Given the description of an element on the screen output the (x, y) to click on. 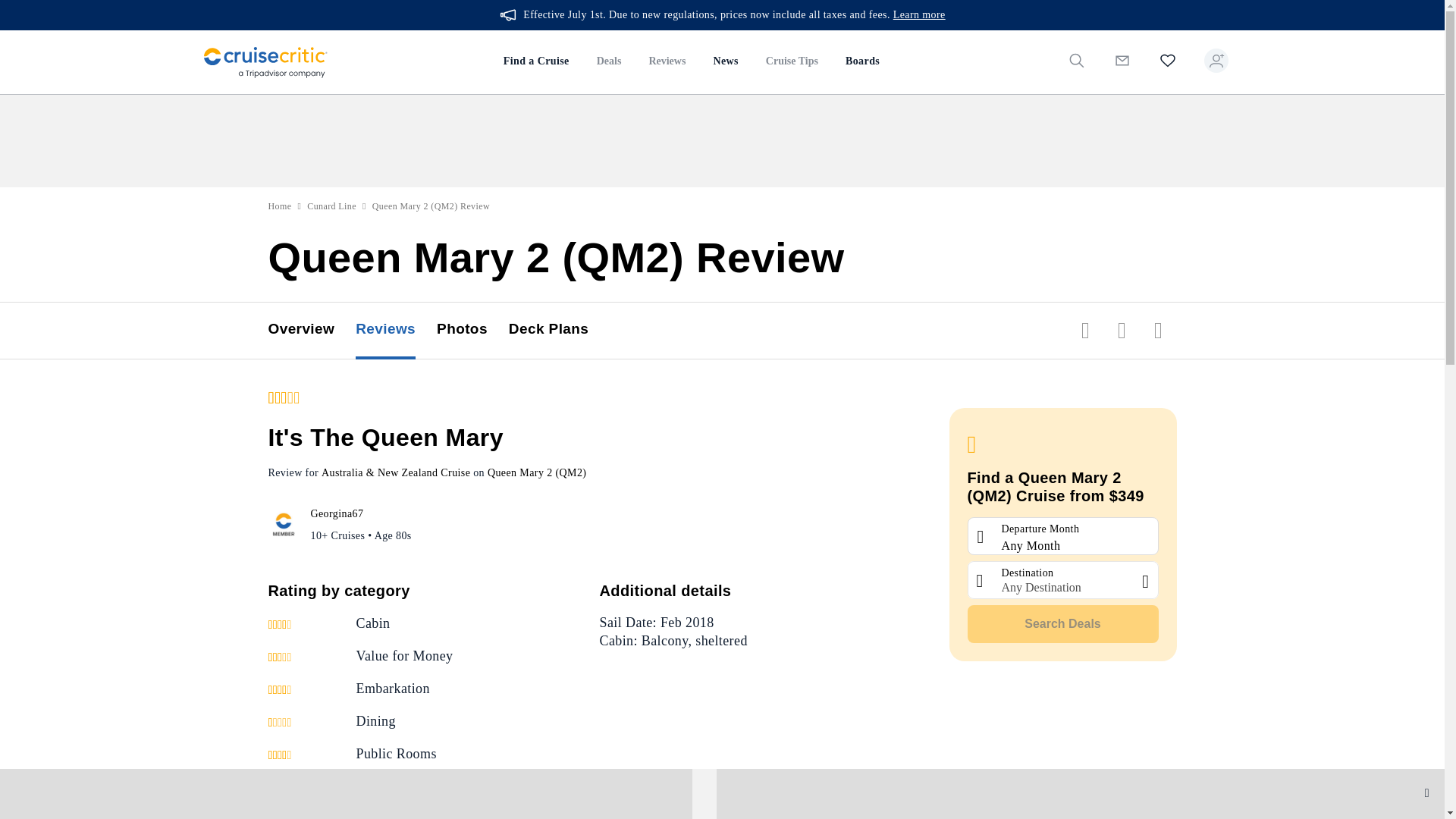
Cruise Tips (791, 62)
Search Deals (1063, 623)
Boards (861, 62)
Overview (311, 330)
Deck Plans (559, 330)
Photos (472, 330)
Find a Cruise (536, 62)
Reviews (666, 62)
Cunard Line (331, 205)
Learn more (918, 15)
